Given the description of an element on the screen output the (x, y) to click on. 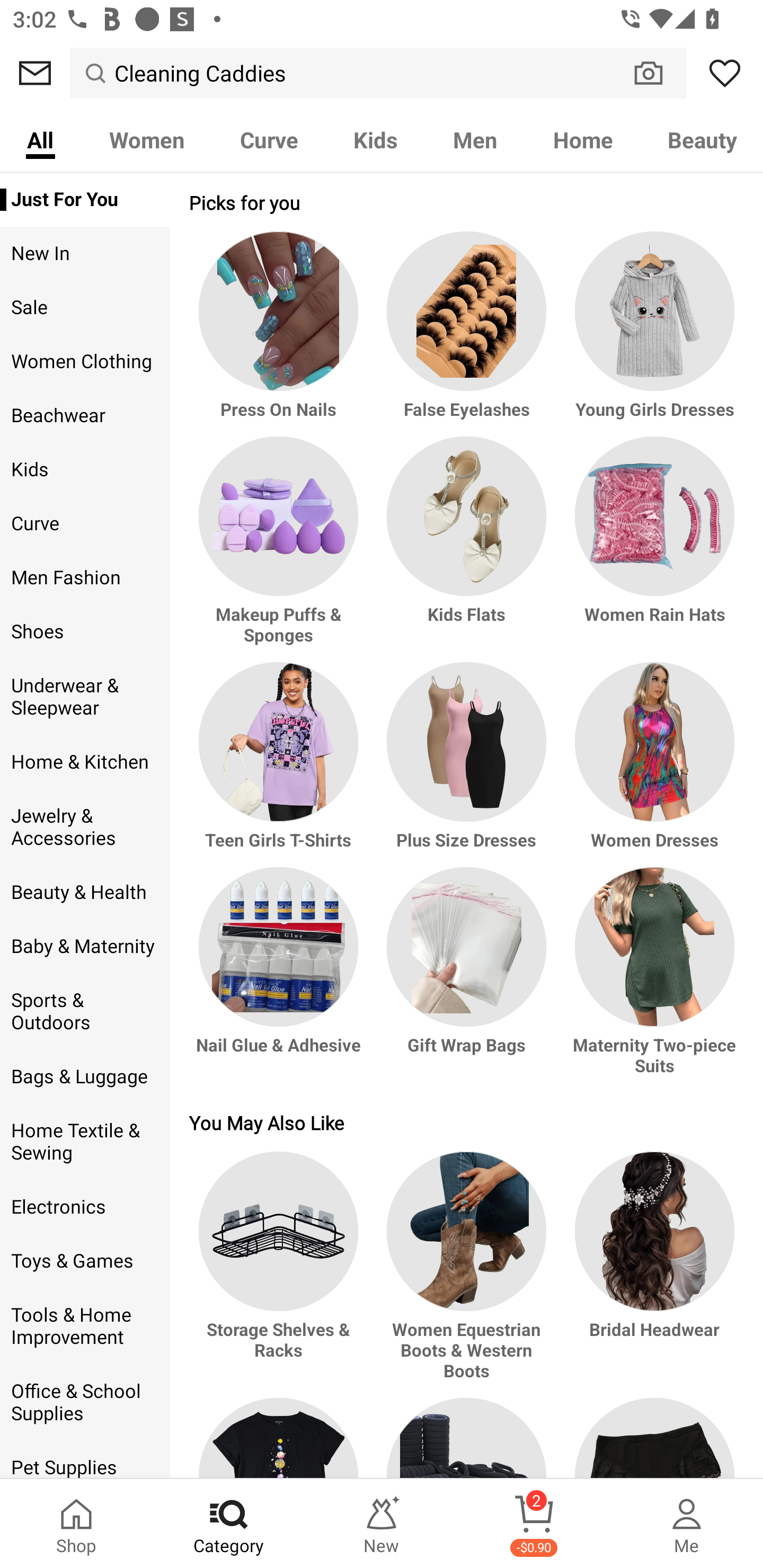
Wishlist (724, 72)
VISUAL SEARCH (657, 72)
All (40, 139)
Women (146, 139)
Curve (268, 139)
Kids (375, 139)
Men (474, 139)
Home (582, 139)
Beauty (701, 139)
Just For You (85, 199)
Picks for you (466, 202)
New In (85, 253)
Press On Nails (281, 333)
False Eyelashes (466, 333)
Young Girls Dresses (651, 333)
Sale (85, 307)
Women Clothing (85, 361)
Beachwear (85, 415)
Makeup Puffs & Sponges (281, 548)
Kids Flats (466, 548)
Women Rain Hats (651, 548)
Kids (85, 469)
Curve (85, 523)
Men Fashion (85, 577)
Shoes (85, 631)
Underwear & Sleepwear (85, 696)
Teen Girls T-Shirts (281, 764)
Plus Size Dresses (466, 764)
Women Dresses (651, 764)
Home & Kitchen (85, 761)
Jewelry & Accessories (85, 826)
Beauty & Health (85, 891)
Nail Glue & Adhesive (281, 979)
Gift Wrap Bags (466, 979)
Maternity Two-piece Suits (651, 979)
Baby & Maternity (85, 945)
Sports & Outdoors (85, 1011)
Bags & Luggage (85, 1076)
You May Also Like (466, 1121)
Home Textile & Sewing (85, 1141)
Storage Shelves & Racks (281, 1274)
Women Equestrian Boots & Western Boots (466, 1274)
Bridal Headwear (651, 1274)
Electronics (85, 1207)
Toys & Games (85, 1261)
Tools & Home Improvement (85, 1326)
Office & School Supplies (85, 1402)
Pet Supplies (85, 1459)
Shop (76, 1523)
New (381, 1523)
Cart 2 -$0.90 (533, 1523)
Me (686, 1523)
